Given the description of an element on the screen output the (x, y) to click on. 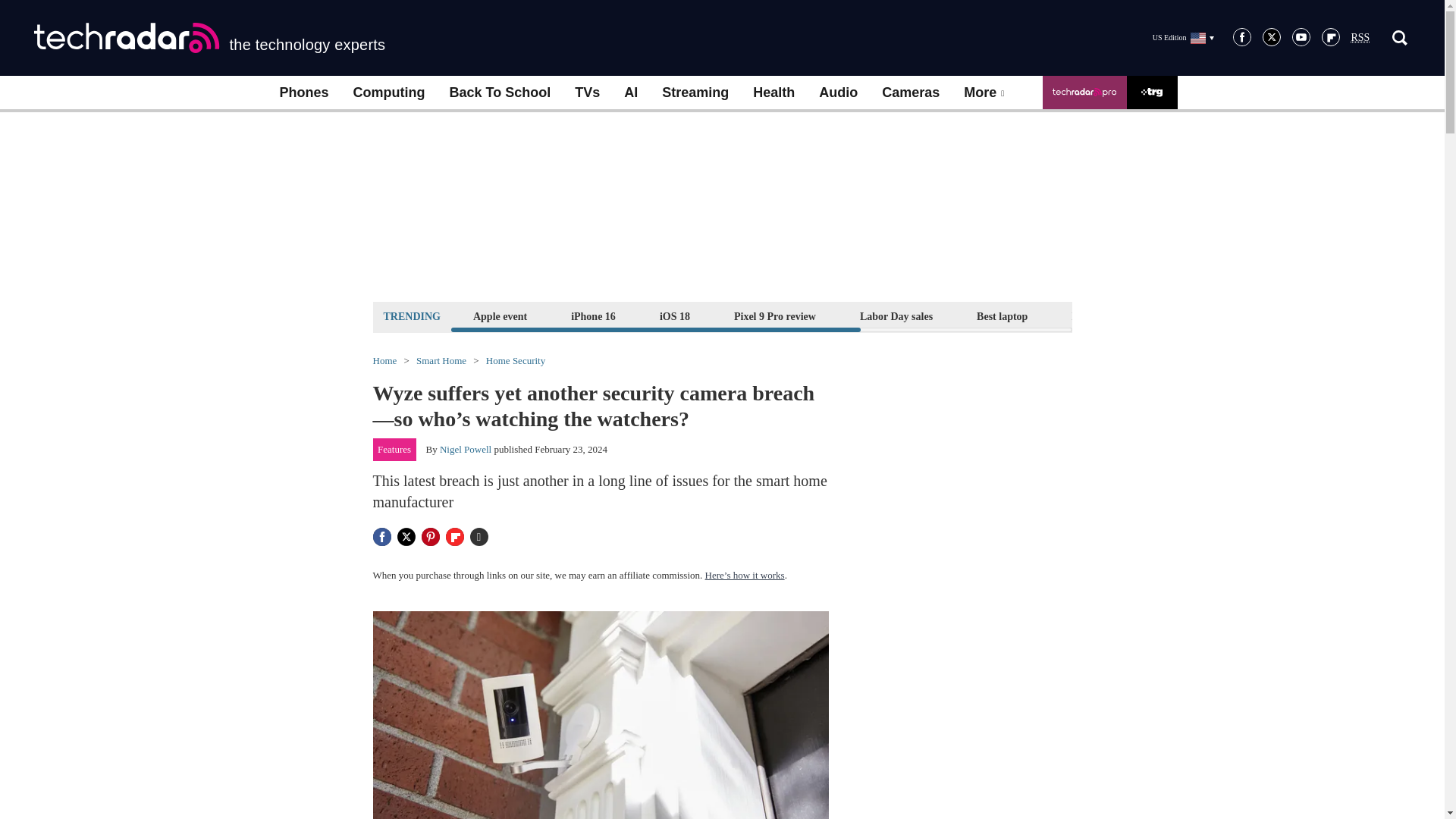
Computing (389, 92)
AI (630, 92)
Phones (303, 92)
Streaming (695, 92)
the technology experts (209, 38)
Audio (837, 92)
Health (773, 92)
US Edition (1182, 37)
TVs (586, 92)
Really Simple Syndication (1360, 37)
